Given the description of an element on the screen output the (x, y) to click on. 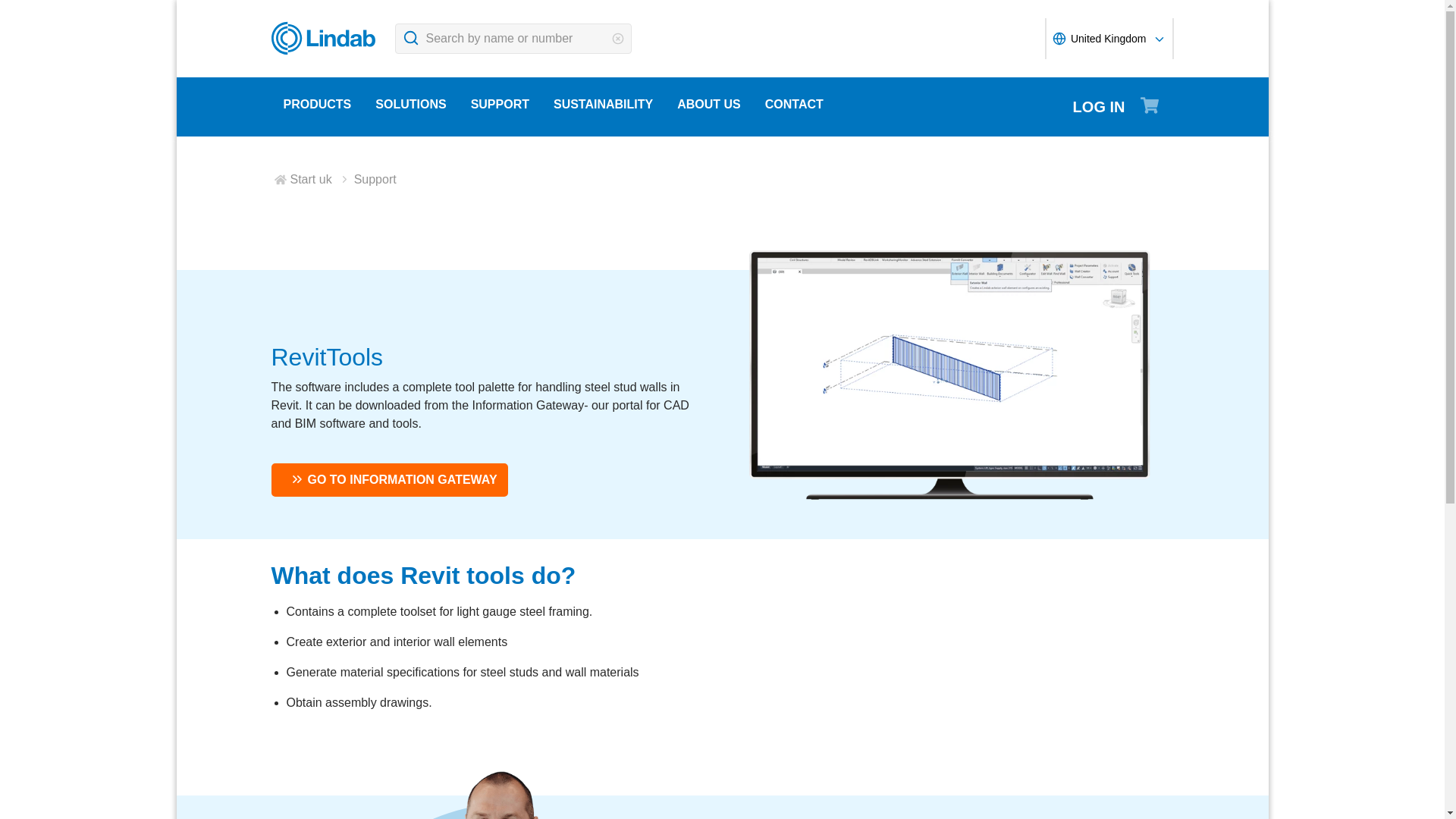
United Kingdom (1108, 38)
Clear search phrase (617, 38)
Go to home page (326, 38)
Search (410, 37)
